Given the description of an element on the screen output the (x, y) to click on. 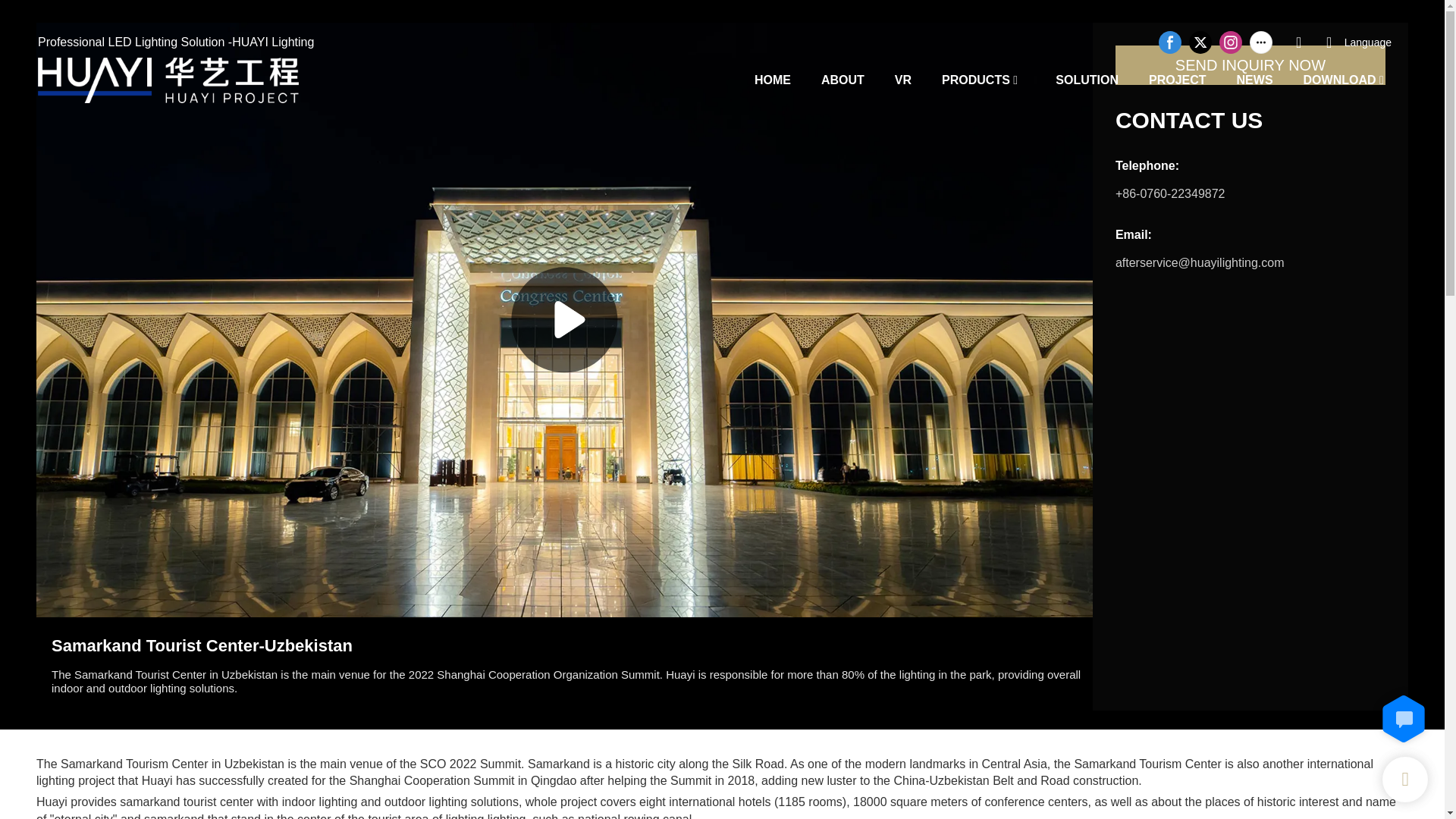
PRODUCTS (976, 79)
ABOUT (842, 79)
twitter (1200, 42)
HOME (772, 79)
facebook (1169, 42)
instagram (1230, 42)
